Given the description of an element on the screen output the (x, y) to click on. 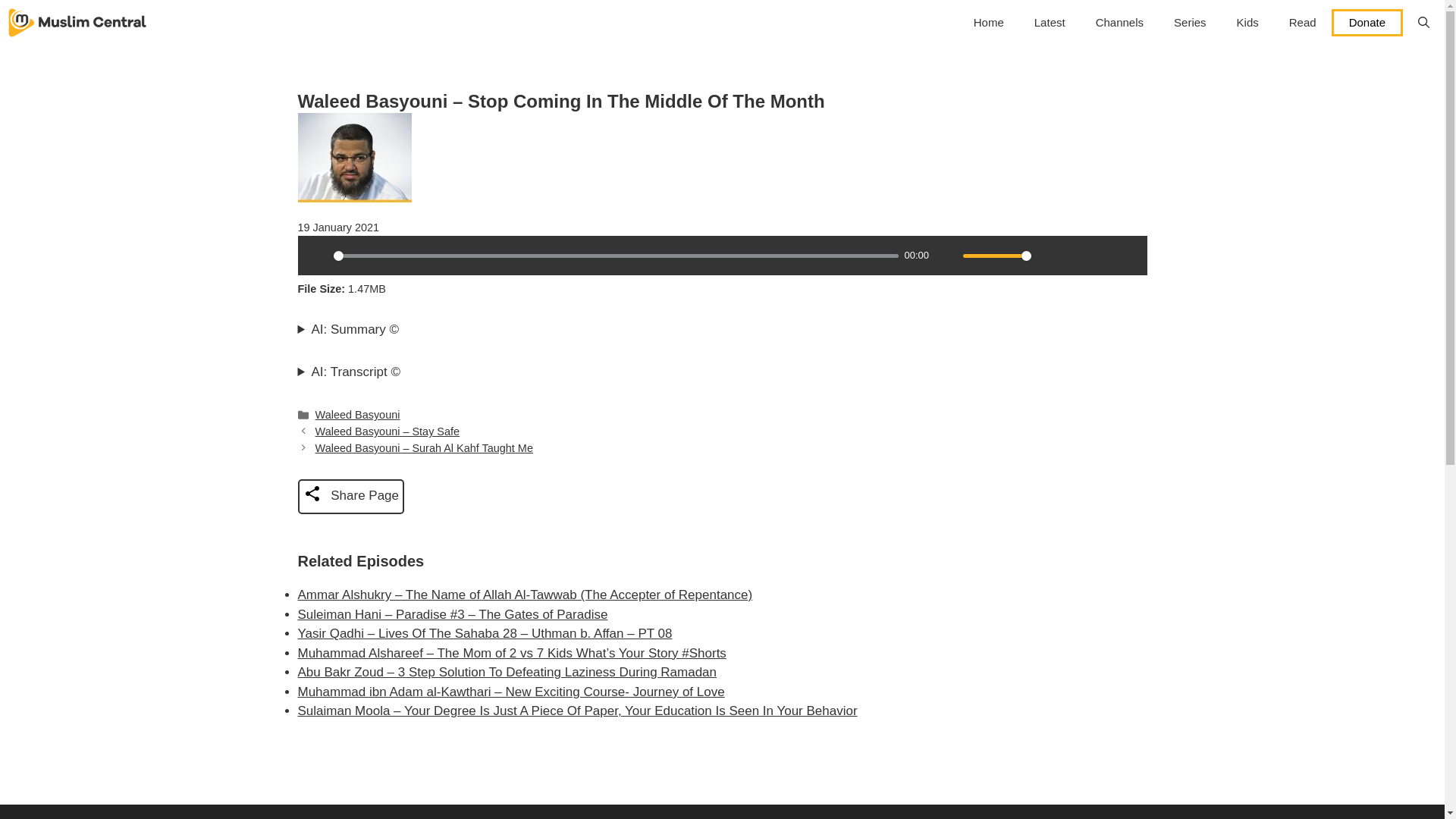
Settings (1048, 255)
Latest (1049, 22)
Rewind 10s (1101, 255)
0 (615, 255)
1 (996, 255)
Download (1074, 255)
Read (1303, 22)
Donate (1367, 22)
Channels (1119, 22)
Home (988, 22)
Kids (1247, 22)
Mute (946, 255)
Forward 10s (1126, 255)
Series (1189, 22)
Muslim Central (77, 22)
